Given the description of an element on the screen output the (x, y) to click on. 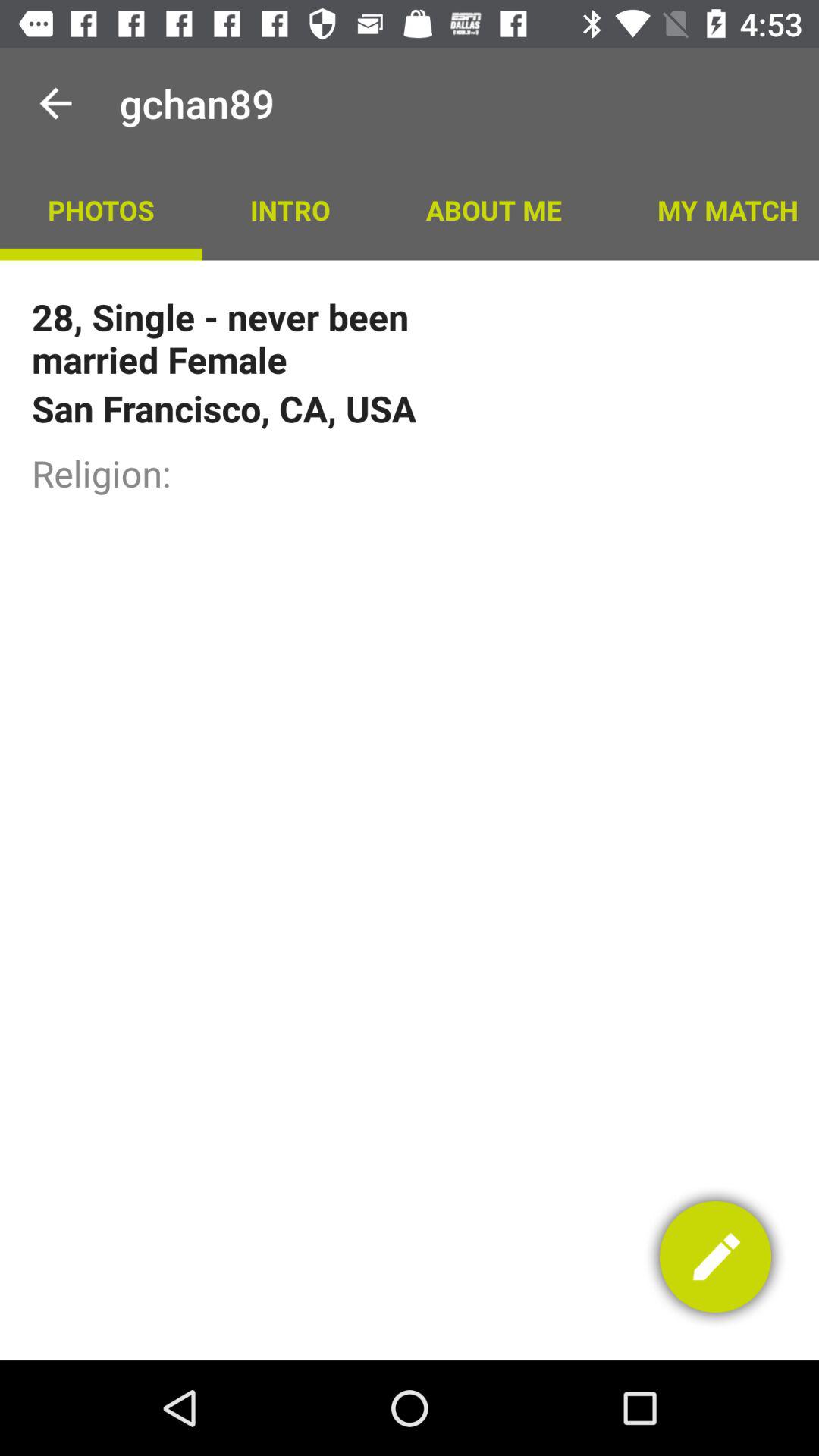
create a new entry (715, 1256)
